Given the description of an element on the screen output the (x, y) to click on. 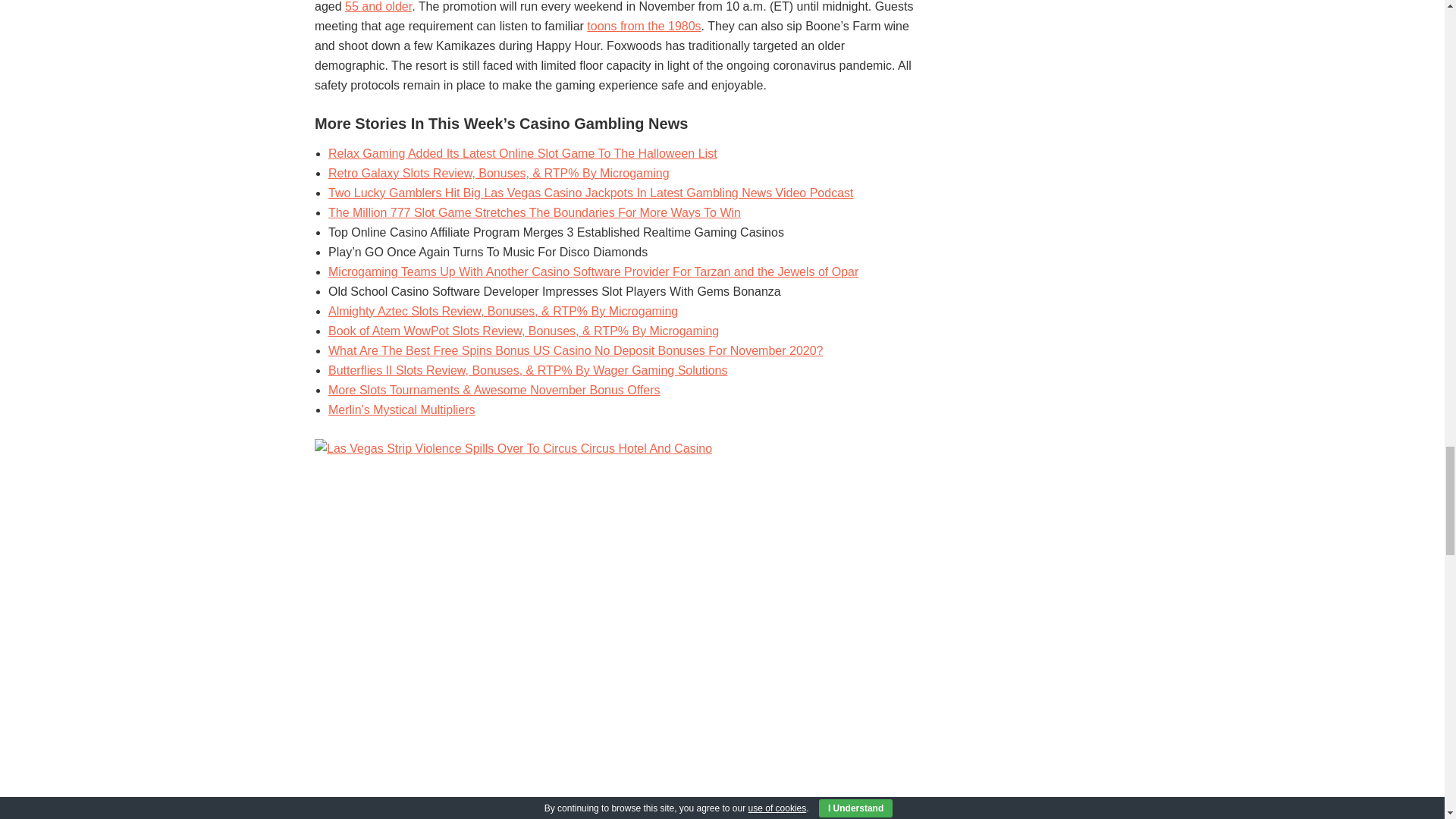
55 and older (378, 6)
